Given the description of an element on the screen output the (x, y) to click on. 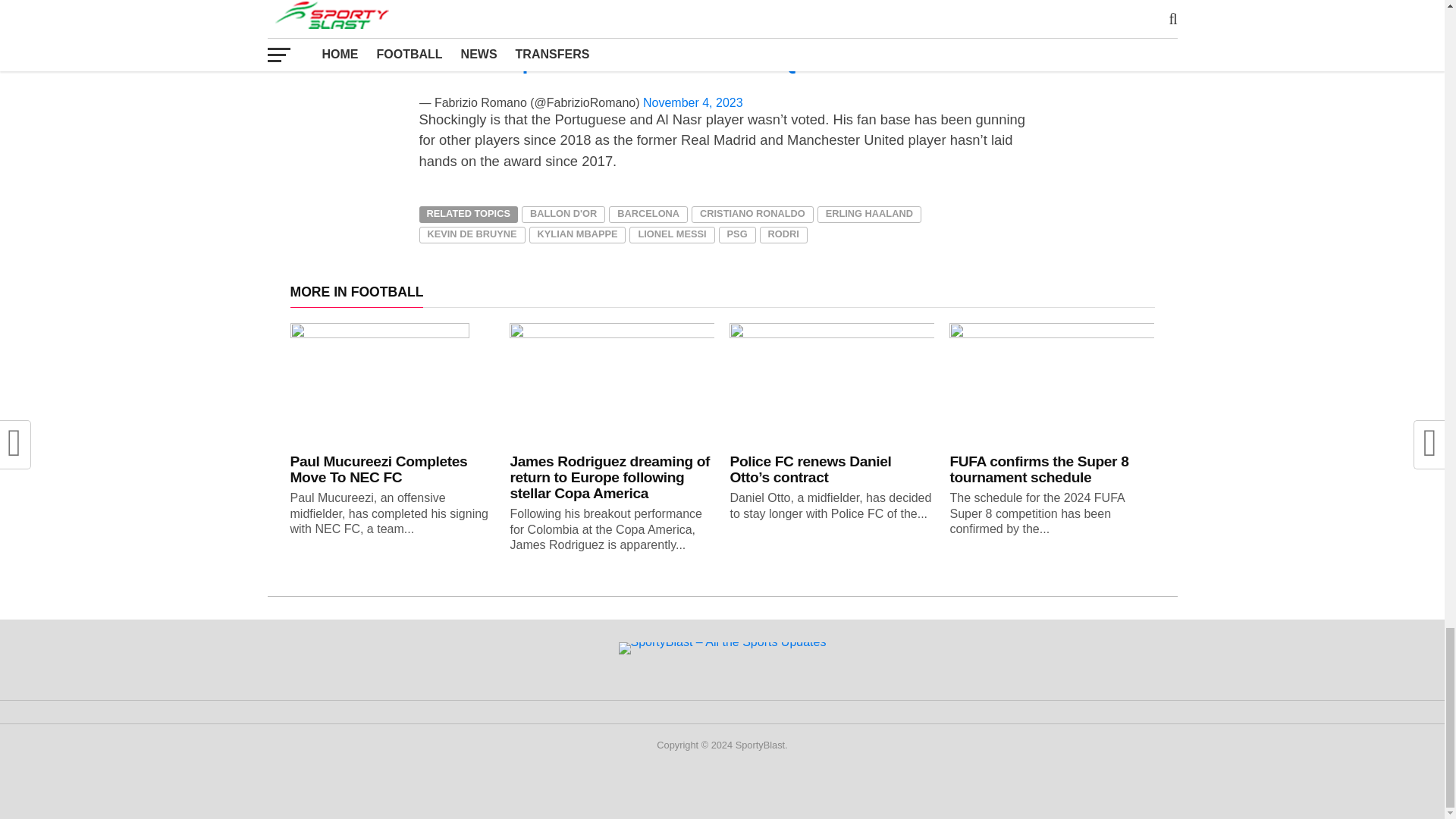
LIONEL MESSI (671, 234)
BARCELONA (647, 214)
November 4, 2023 (692, 102)
KEVIN DE BRUYNE (471, 234)
RODRI (784, 234)
PSG (737, 234)
CRISTIANO RONALDO (752, 214)
BALLON D'OR (563, 214)
KYLIAN MBAPPE (577, 234)
ERLING HAALAND (868, 214)
